Given the description of an element on the screen output the (x, y) to click on. 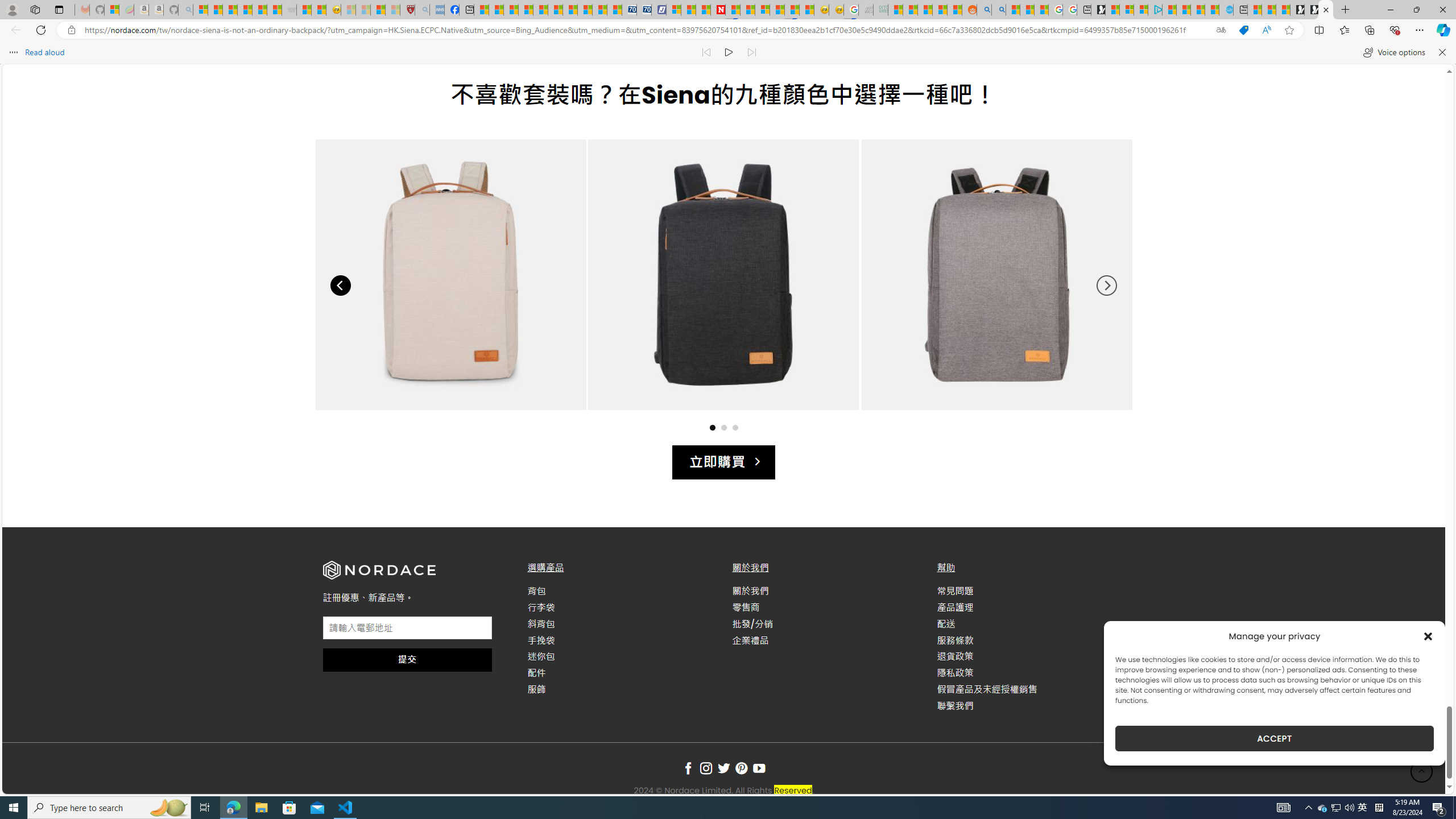
AutomationID: input_4_1 (406, 627)
Navy Quest (865, 9)
Add this page to favorites (Ctrl+D) (1289, 29)
World - MSN (510, 9)
Recipes - MSN - Sleeping (348, 9)
Minimize (1390, 9)
Collections (1369, 29)
MSN (791, 9)
ACCEPT (1274, 738)
